Given the description of an element on the screen output the (x, y) to click on. 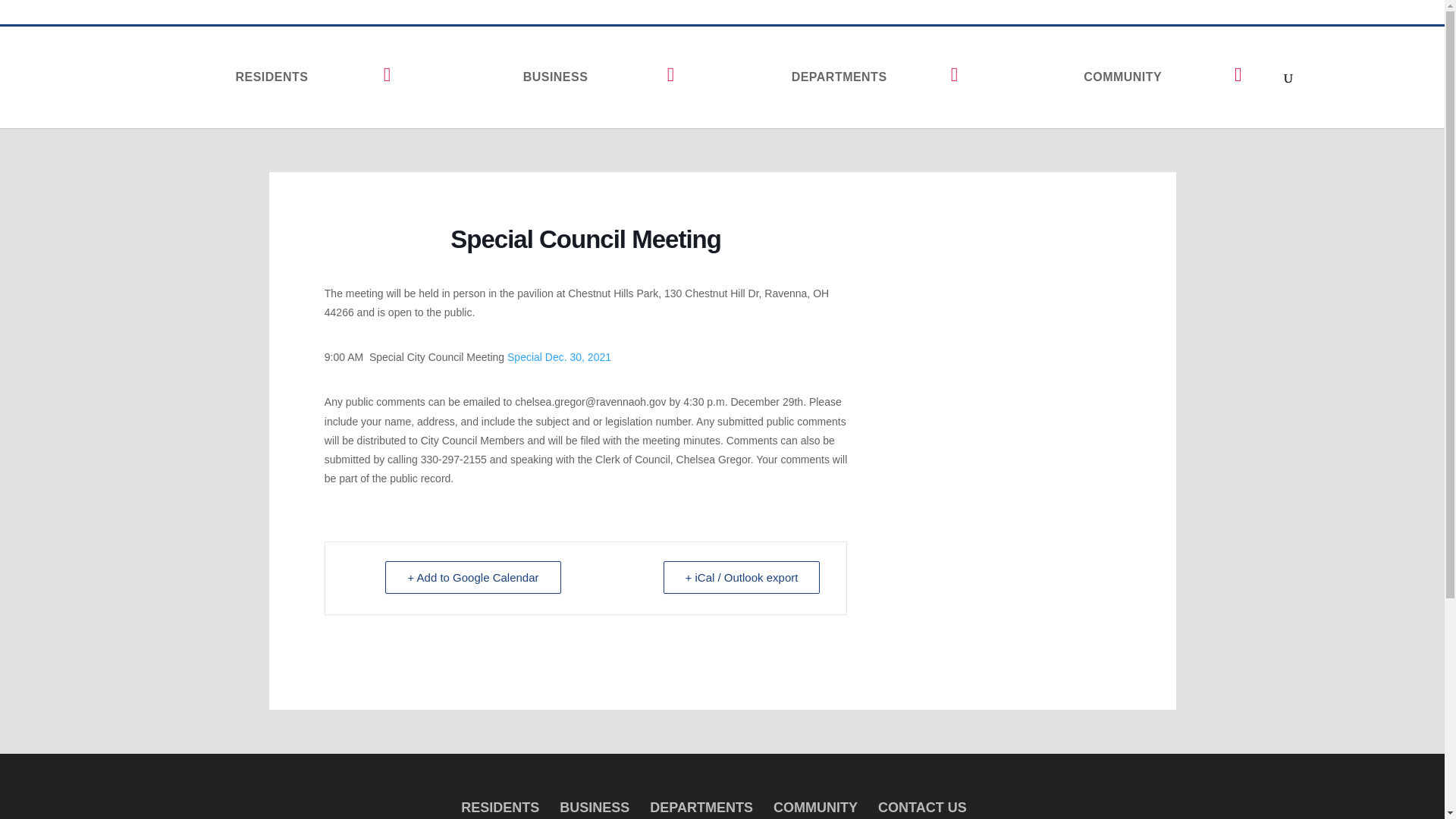
BUSINESS (562, 76)
DEPARTMENTS (846, 76)
Pay Bills (983, 15)
Recycling (1042, 15)
Permits (1099, 15)
RESIDENTS (278, 76)
